Given the description of an element on the screen output the (x, y) to click on. 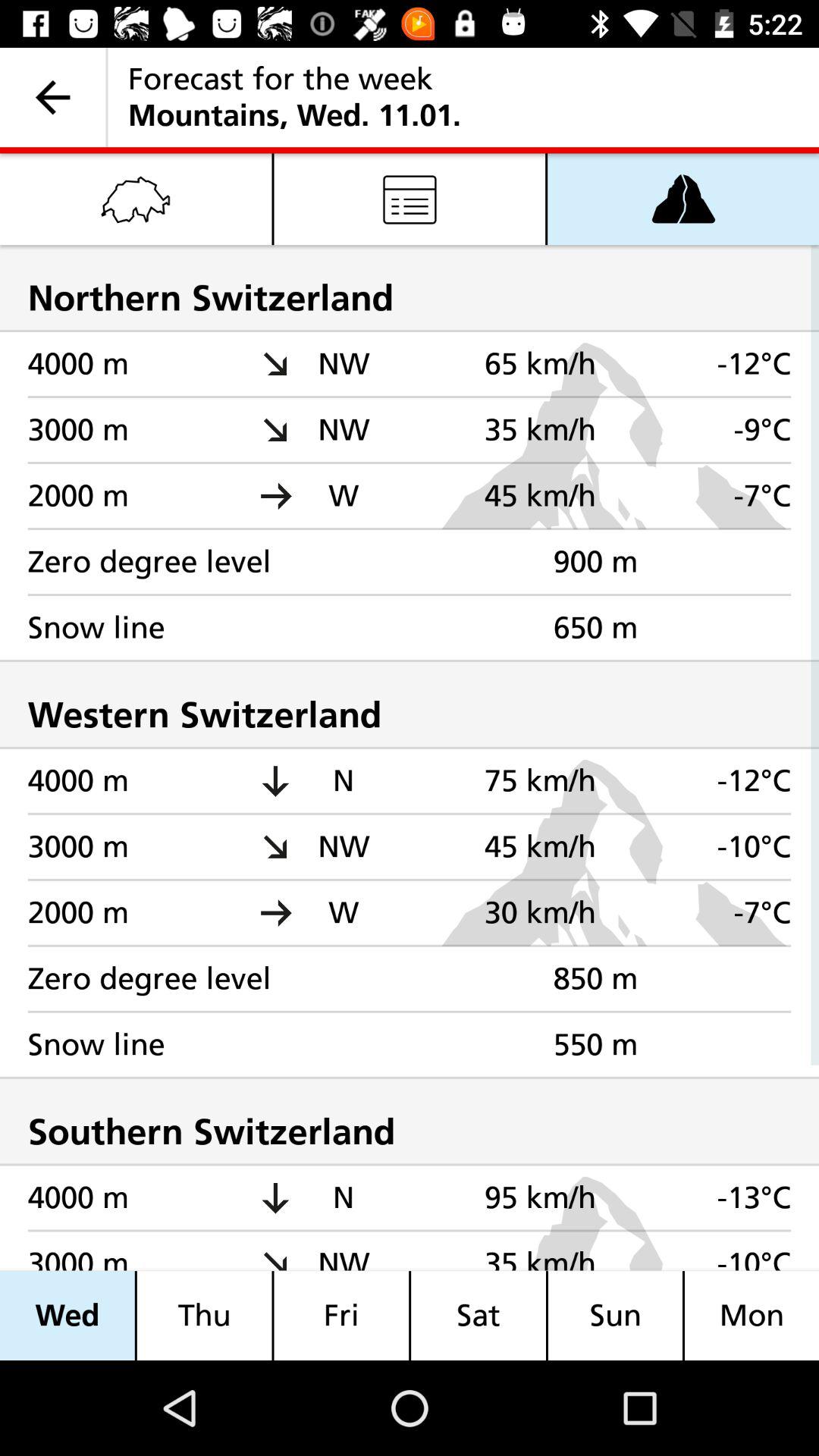
swipe to sun icon (615, 1315)
